Given the description of an element on the screen output the (x, y) to click on. 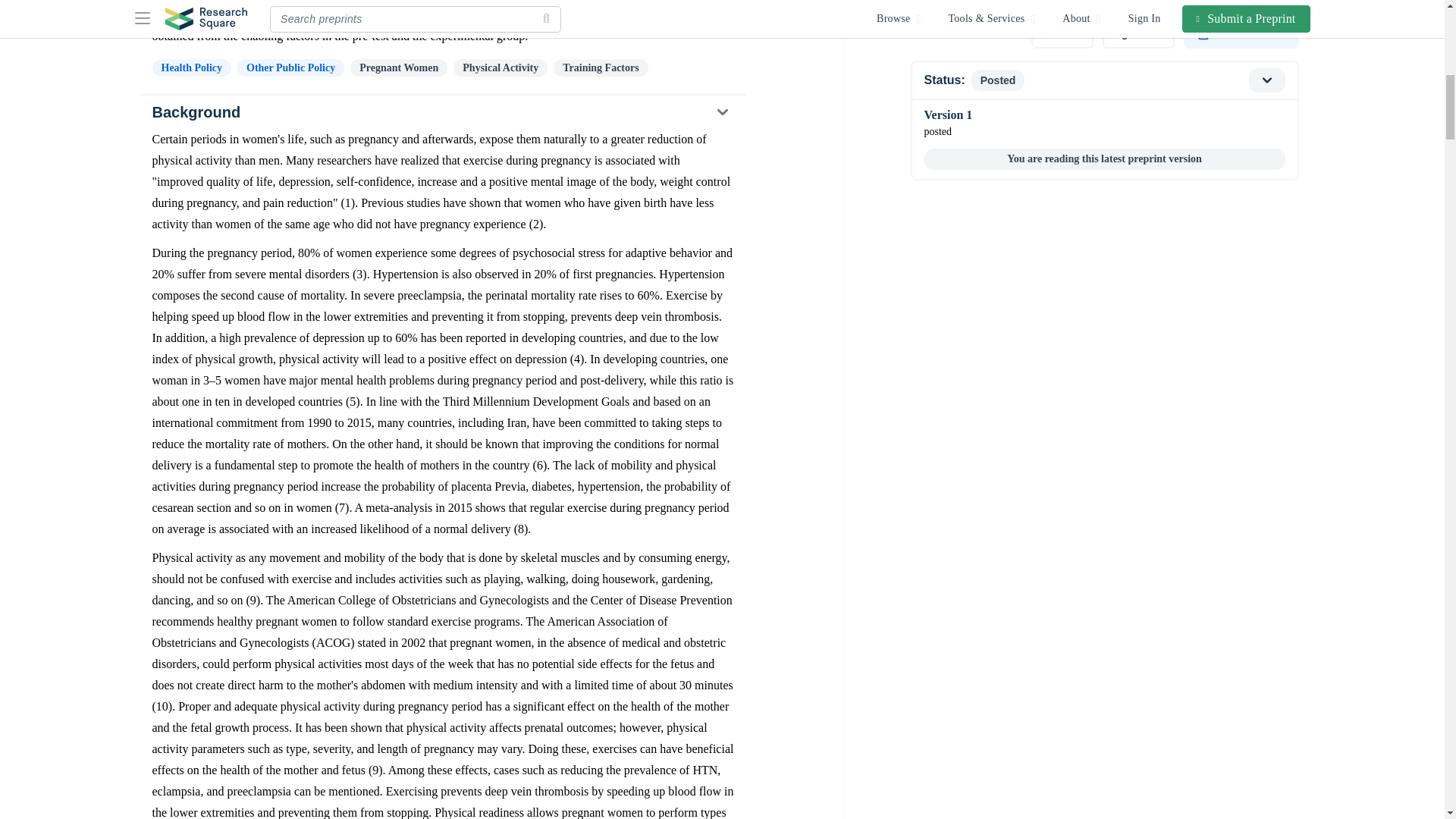
Health Policy (191, 67)
Other Public Policy (290, 67)
Background (442, 111)
